Given the description of an element on the screen output the (x, y) to click on. 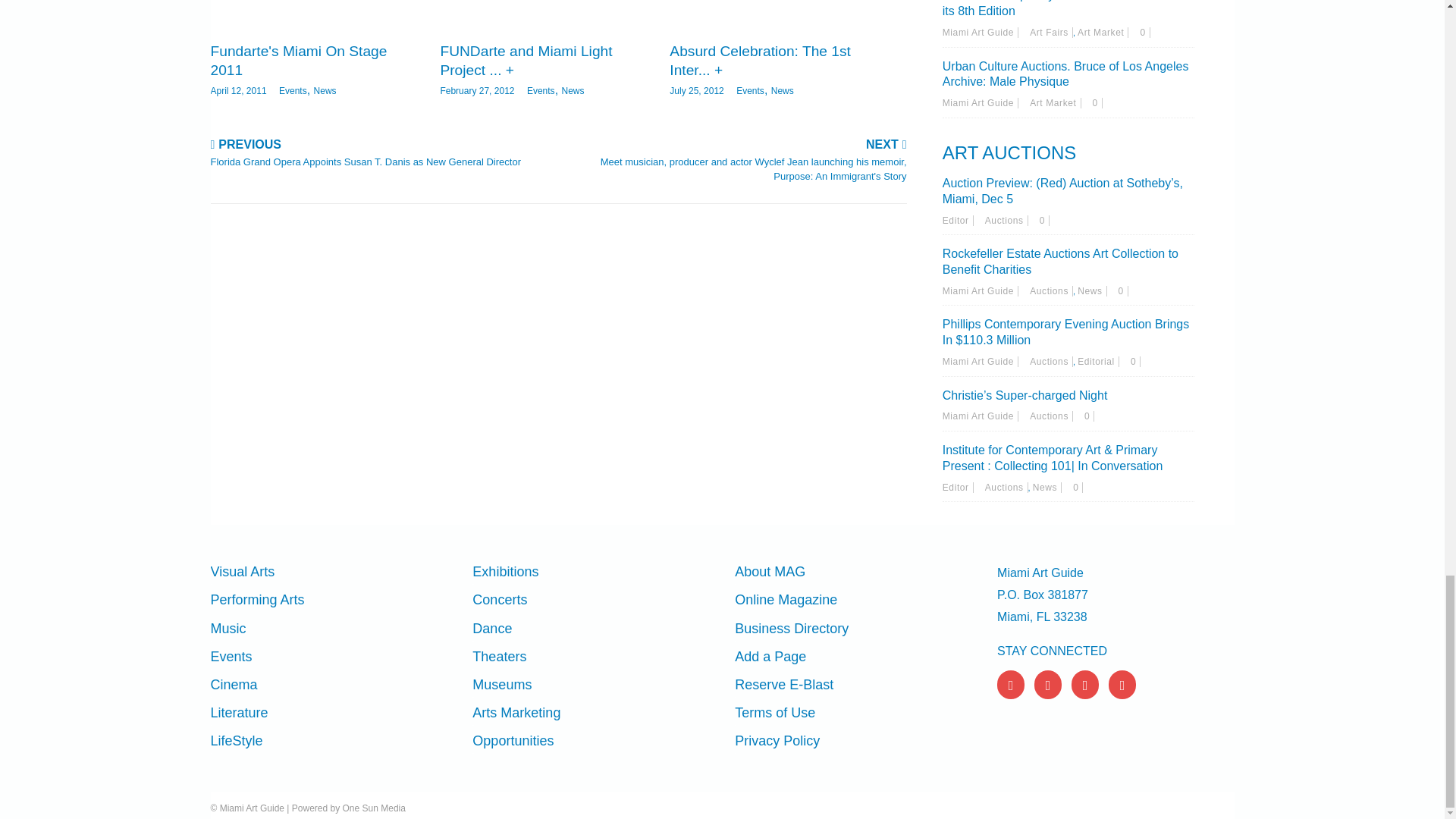
0 (1044, 220)
0 (1078, 487)
0 (1097, 102)
0 (1135, 361)
0 (1145, 32)
0 (1089, 416)
0 (1123, 290)
